Given the description of an element on the screen output the (x, y) to click on. 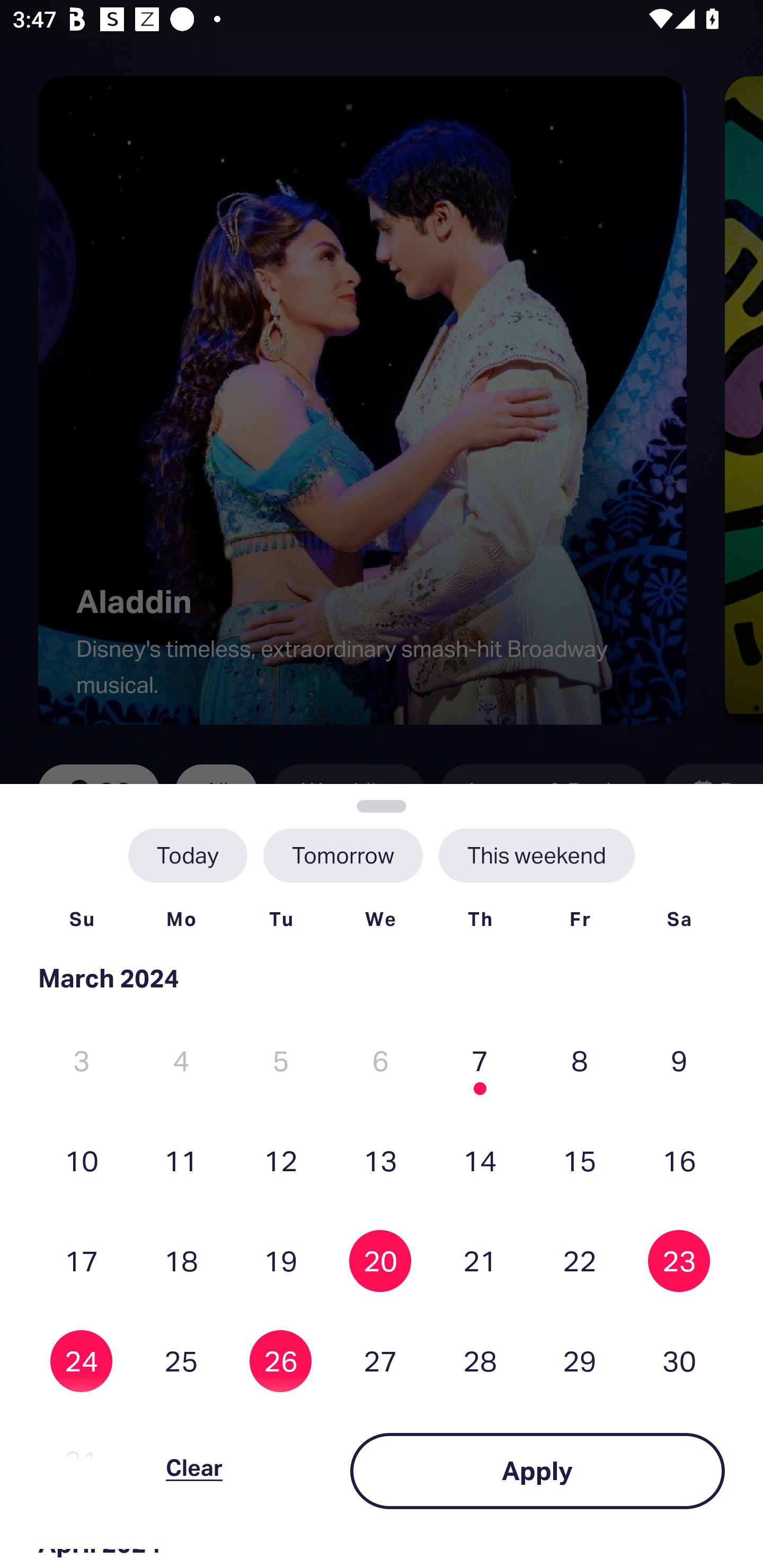
Today (187, 854)
Tomorrow (342, 854)
This weekend (536, 854)
3 (81, 1060)
4 (181, 1060)
5 (280, 1060)
6 (380, 1060)
7 (479, 1060)
8 (579, 1060)
9 (678, 1060)
10 (81, 1160)
11 (181, 1160)
12 (280, 1160)
13 (380, 1160)
14 (479, 1160)
15 (579, 1160)
16 (678, 1160)
17 (81, 1260)
18 (181, 1260)
19 (280, 1260)
20 (380, 1260)
21 (479, 1260)
22 (579, 1260)
23 (678, 1260)
24 (81, 1360)
25 (181, 1360)
26 (280, 1360)
27 (380, 1360)
28 (479, 1360)
29 (579, 1360)
30 (678, 1360)
Clear (194, 1470)
Apply (537, 1470)
